Given the description of an element on the screen output the (x, y) to click on. 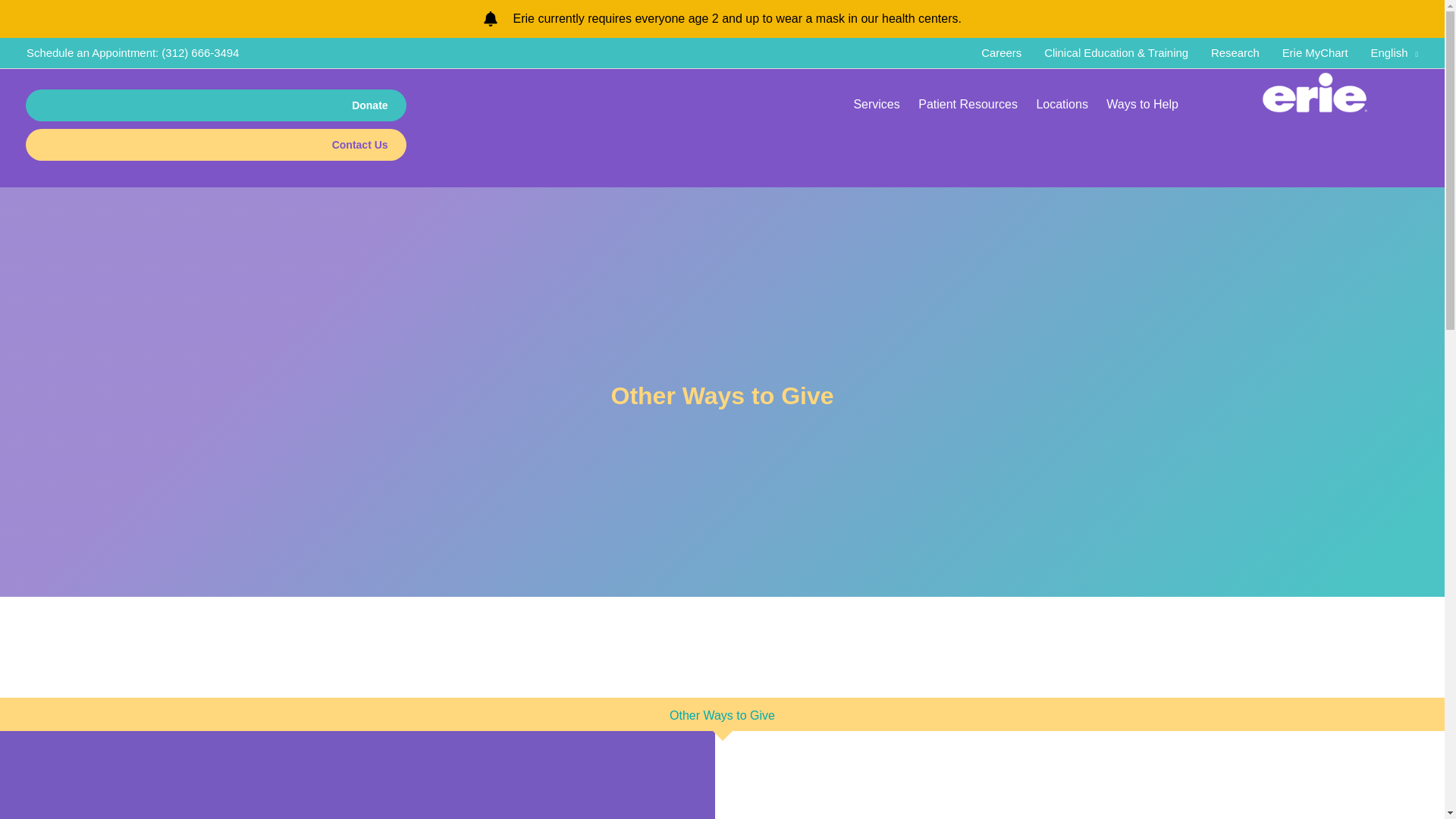
Erie MyChart (1315, 52)
English (1388, 52)
Services (876, 104)
Ways to Help (1142, 104)
Contact Us (216, 144)
Careers (1000, 52)
erie-logo-945pxWhite (1314, 94)
Patient Resources (968, 104)
Donate (216, 105)
Locations (1061, 104)
